Given the description of an element on the screen output the (x, y) to click on. 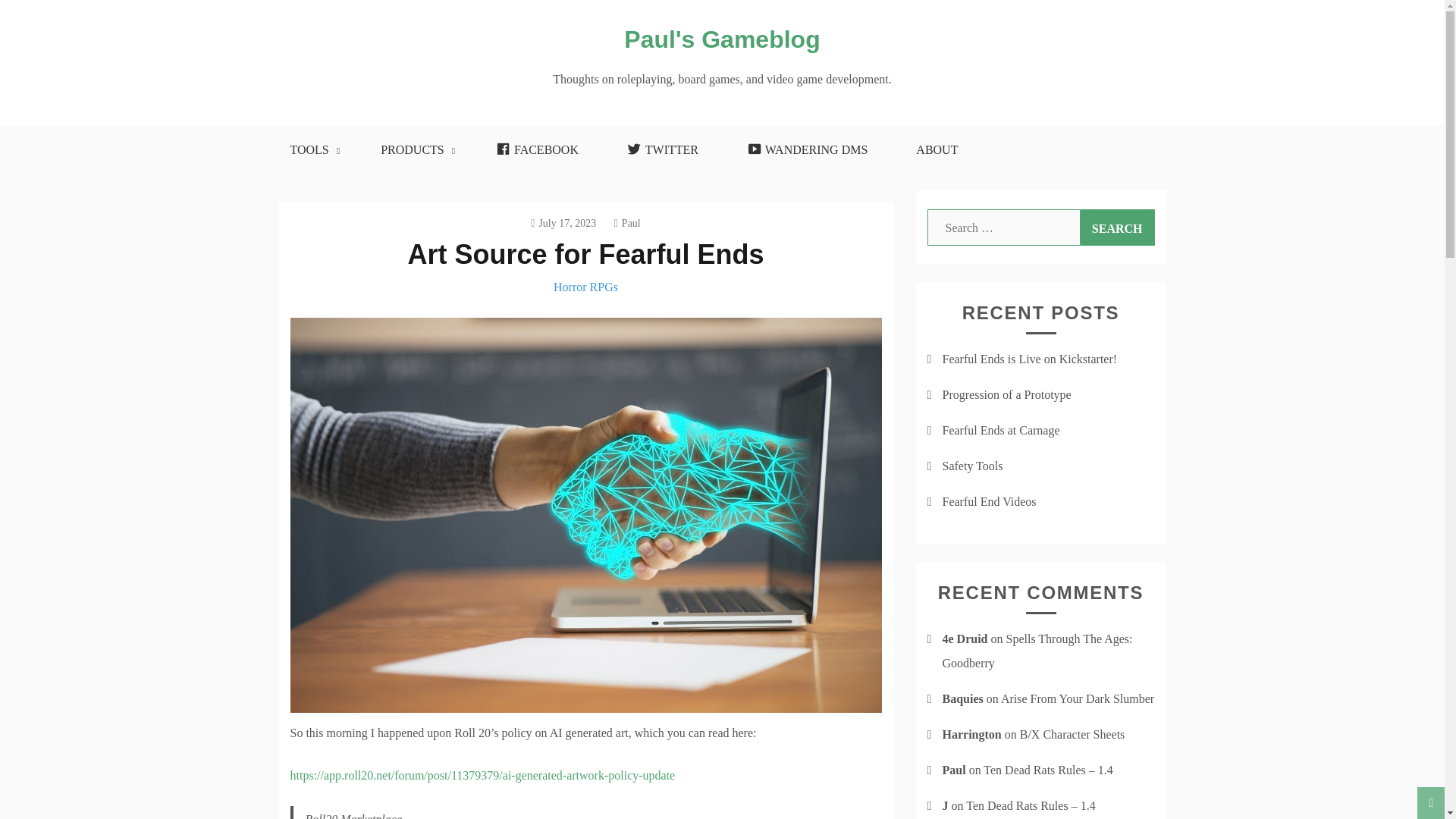
July 17, 2023 (563, 223)
TOOLS (310, 150)
Search (1117, 227)
Progression of a Prototype (1006, 394)
Search (1117, 227)
Fearful Ends at Carnage (1000, 430)
FACEBOOK (537, 150)
PRODUCTS (414, 150)
WANDERING DMS (806, 150)
Horror RPGs (585, 286)
ABOUT (936, 150)
Paul (627, 223)
Paul's Gameblog (721, 39)
Search (1117, 227)
TWITTER (662, 150)
